Given the description of an element on the screen output the (x, y) to click on. 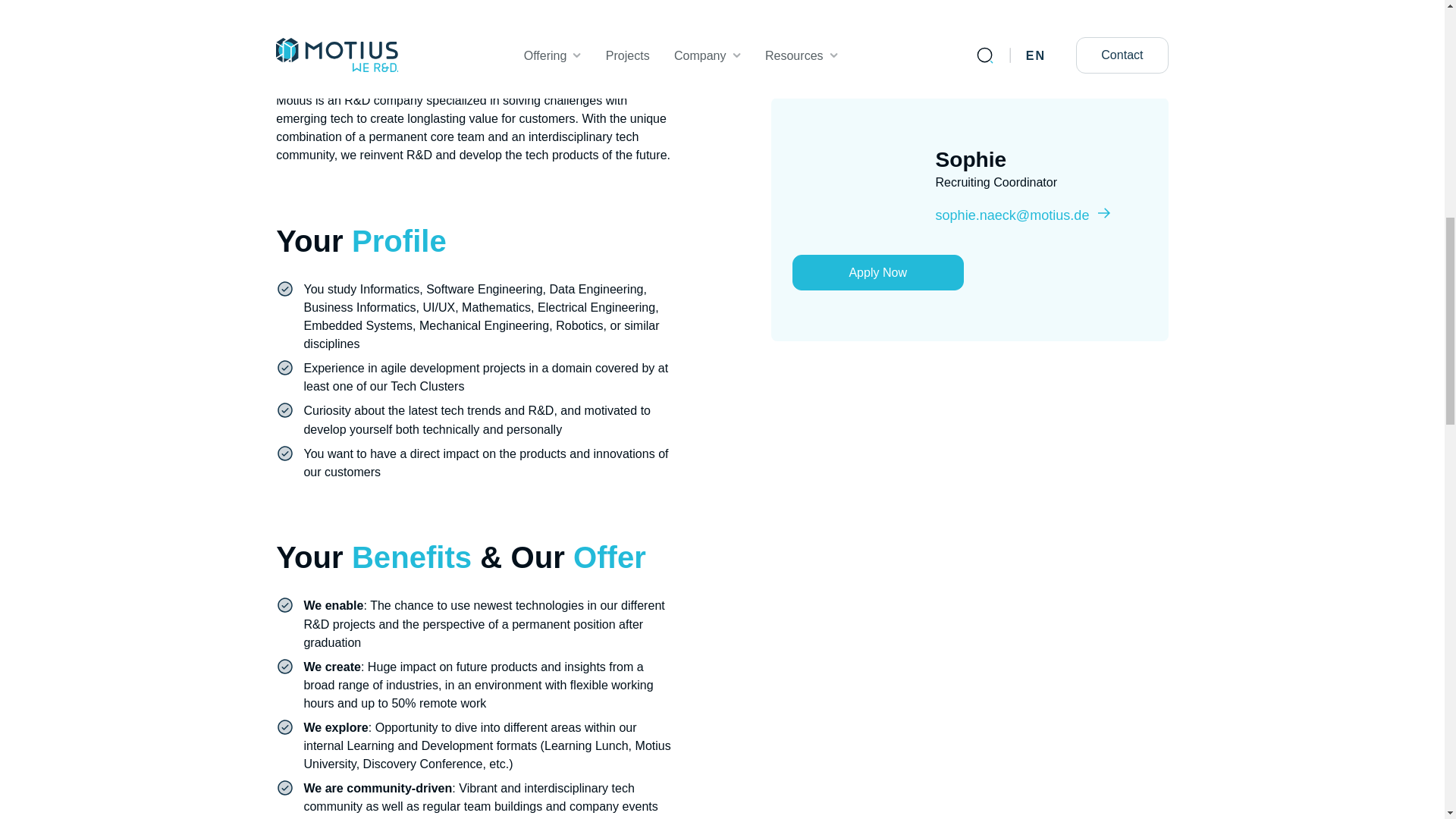
Arrow Right (1103, 151)
Apply Now (877, 211)
